Given the description of an element on the screen output the (x, y) to click on. 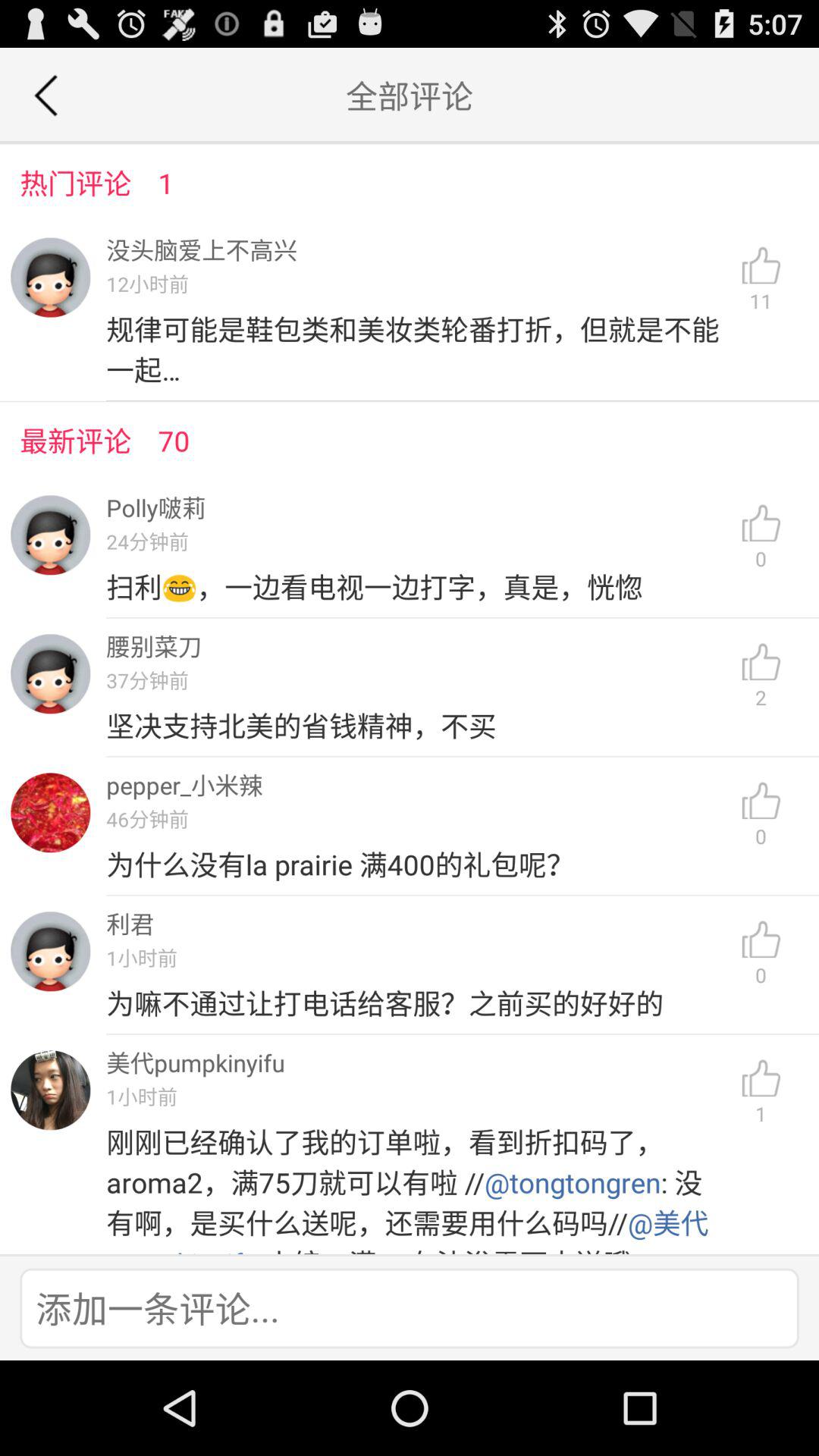
turn off the 11 (761, 279)
